Given the description of an element on the screen output the (x, y) to click on. 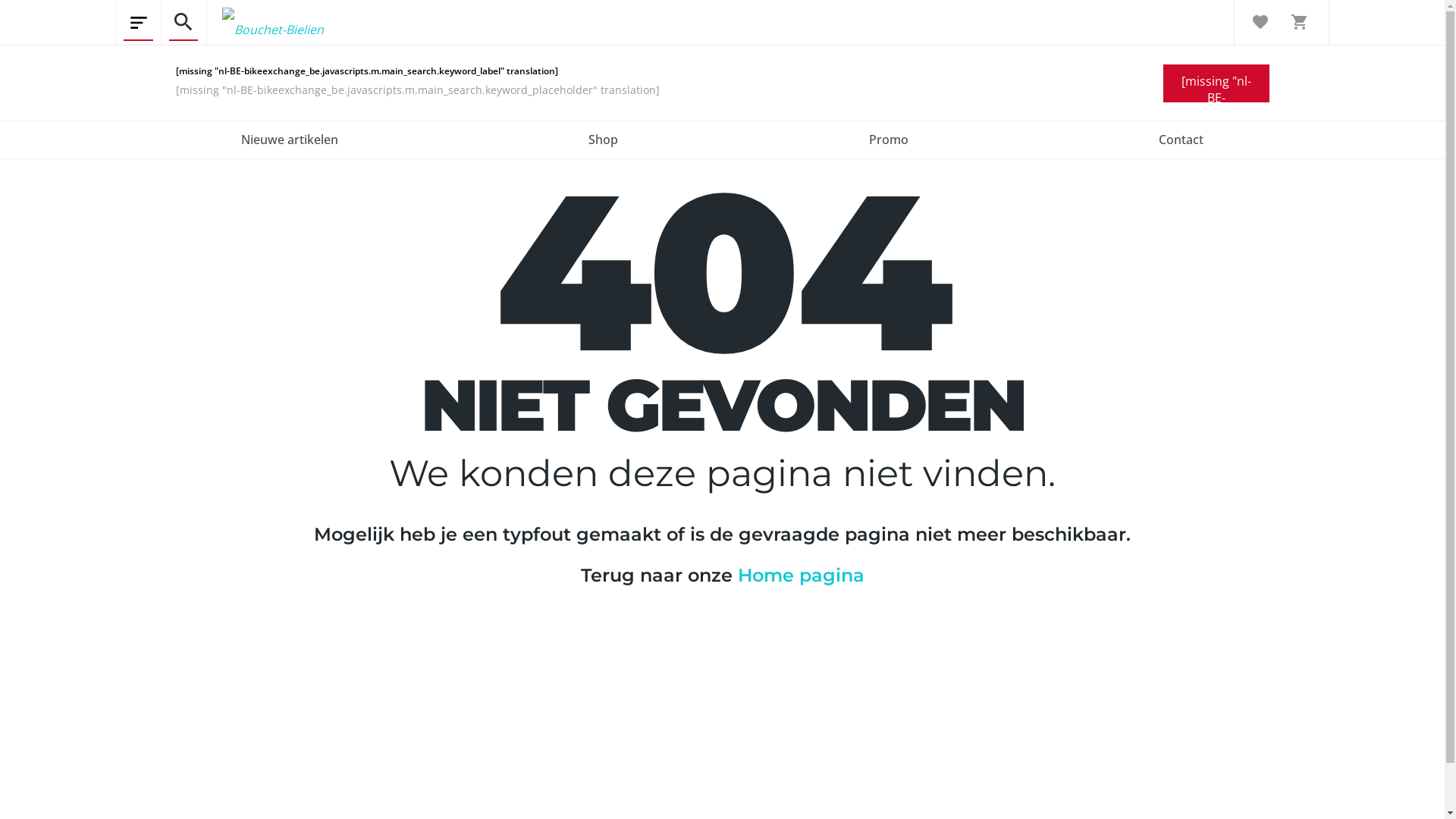
Home pagina Element type: text (800, 575)
Contact Element type: text (1181, 140)
Promo Element type: text (888, 140)
Nieuwe artikelen Element type: text (289, 140)
Bouchet-Bielien Home pagina Element type: hover (264, 22)
